Given the description of an element on the screen output the (x, y) to click on. 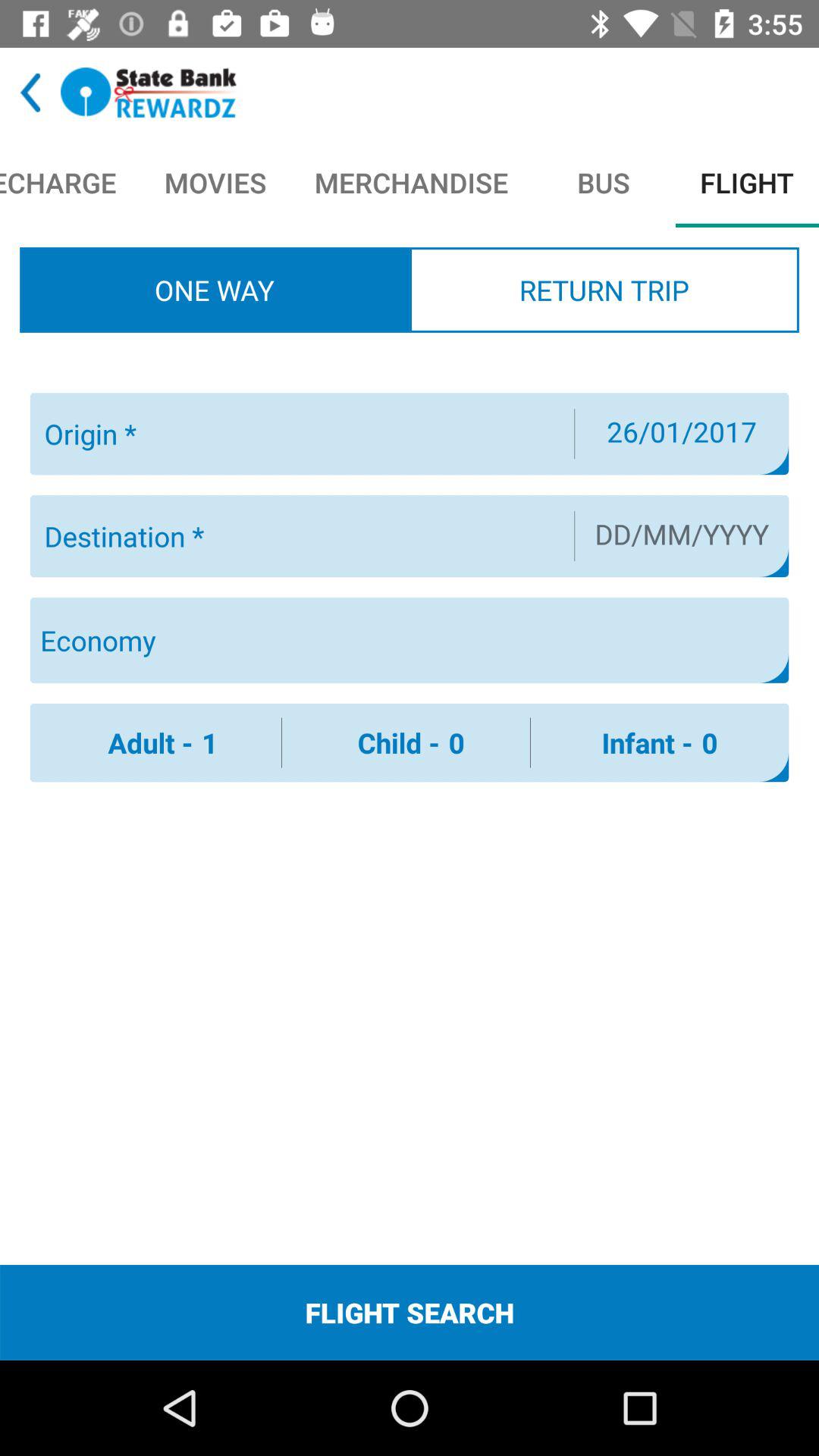
go back (30, 92)
